Given the description of an element on the screen output the (x, y) to click on. 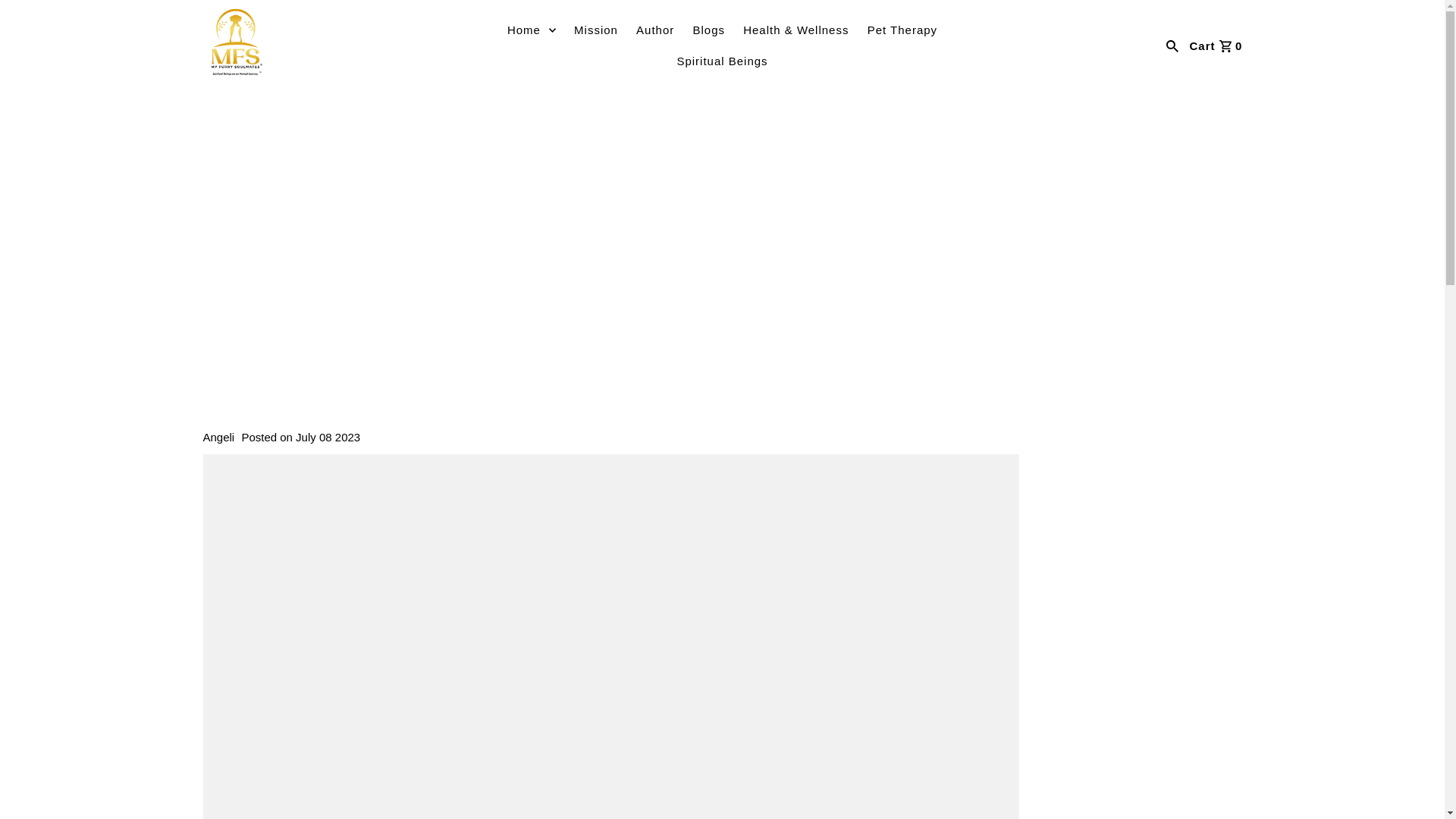
Author (654, 30)
Blogs (708, 30)
Home (531, 30)
Spiritual Beings (721, 60)
Mission (596, 30)
Pet Therapy (902, 30)
